Given the description of an element on the screen output the (x, y) to click on. 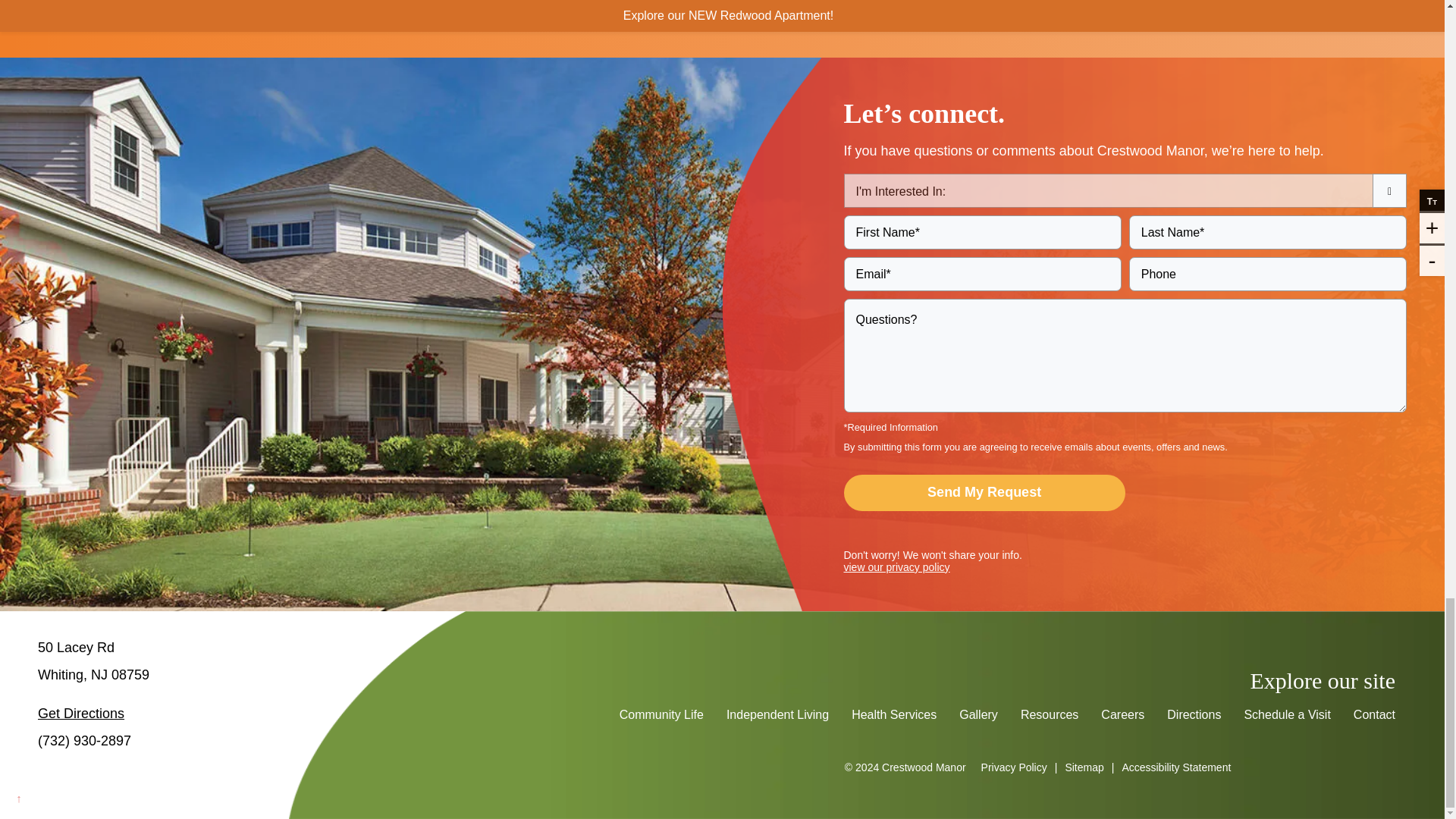
Send My Request (983, 493)
